Given the description of an element on the screen output the (x, y) to click on. 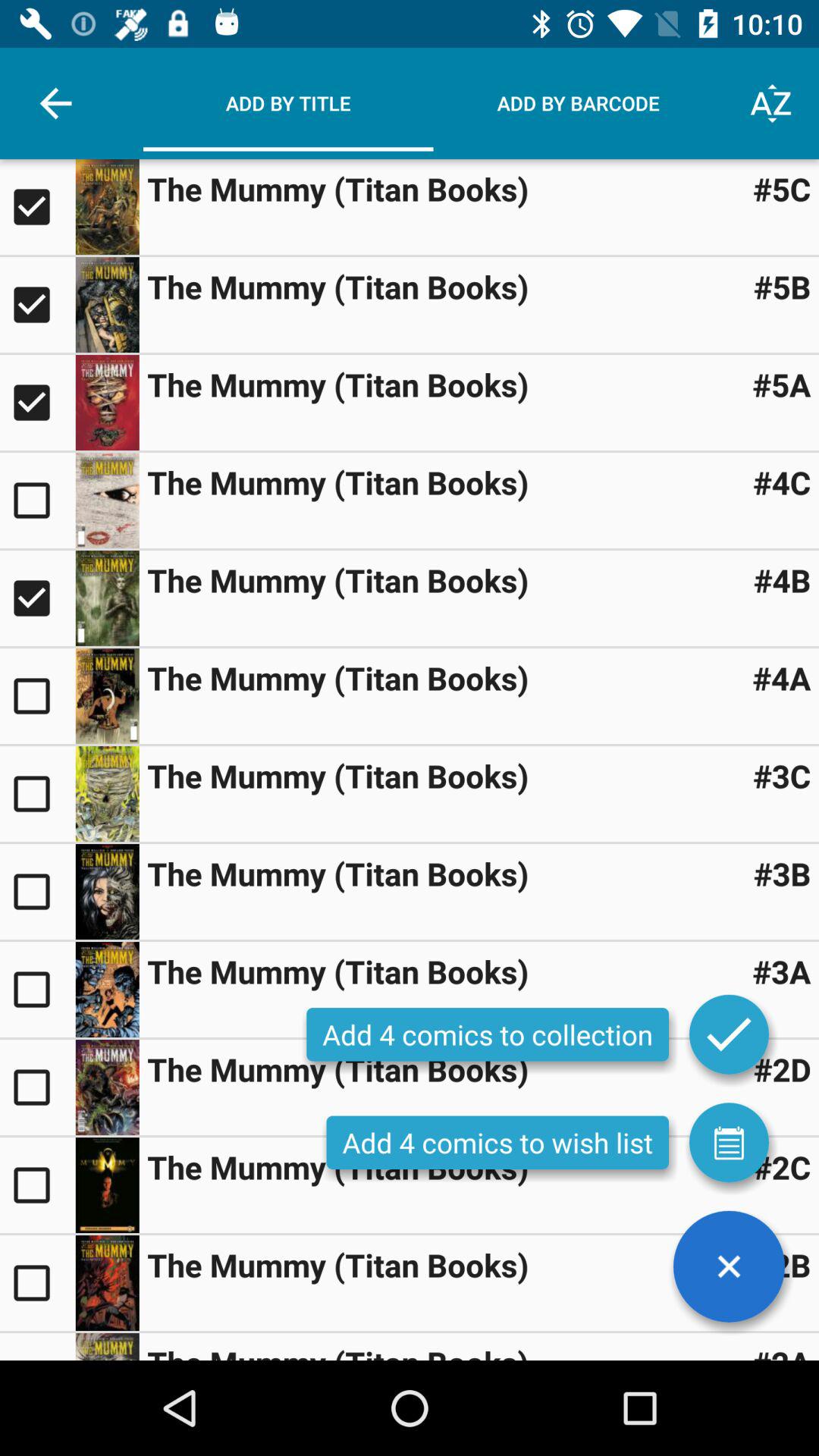
toggle checkbox (37, 695)
